Given the description of an element on the screen output the (x, y) to click on. 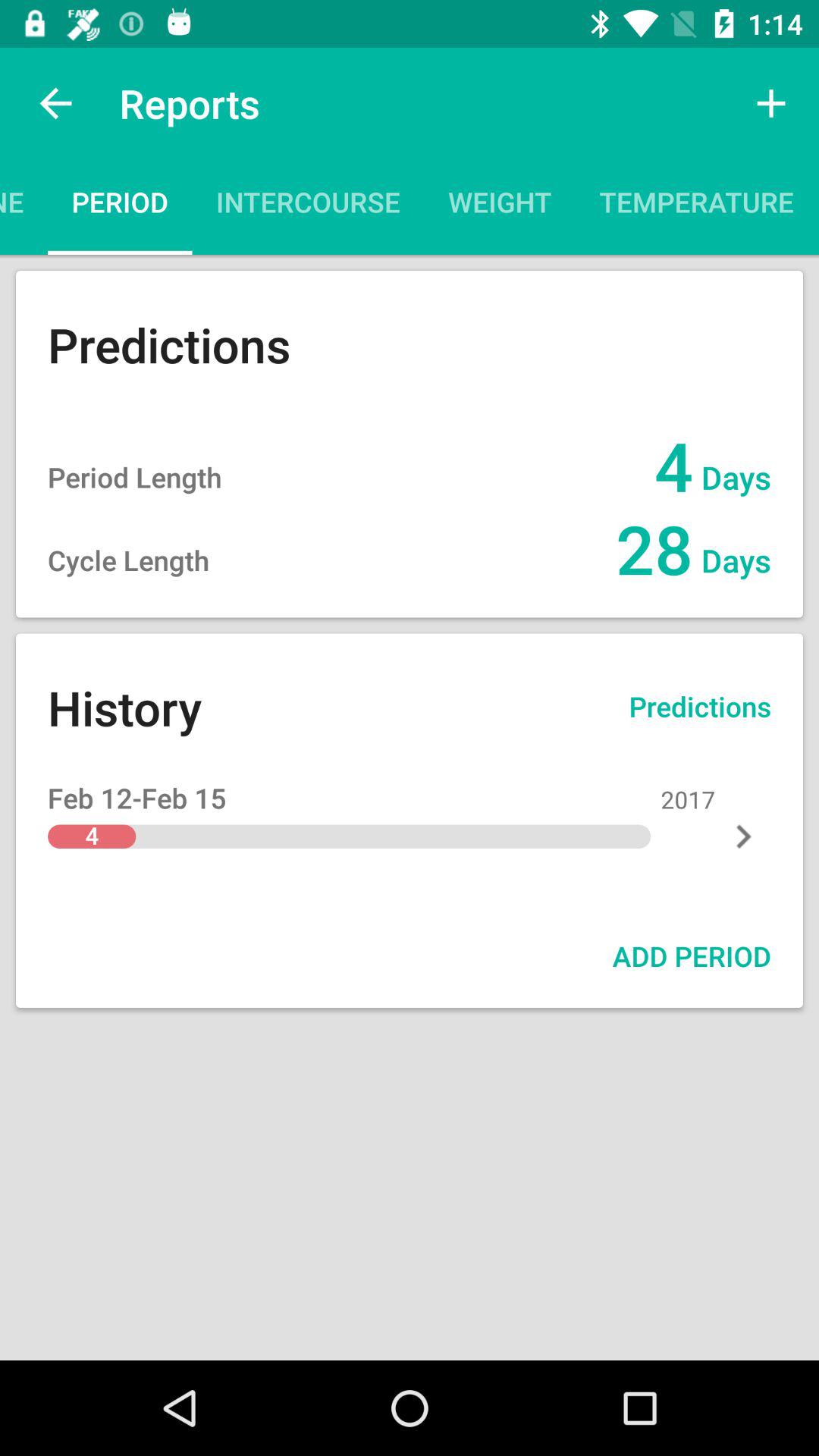
open the icon next to temperature icon (818, 206)
